Given the description of an element on the screen output the (x, y) to click on. 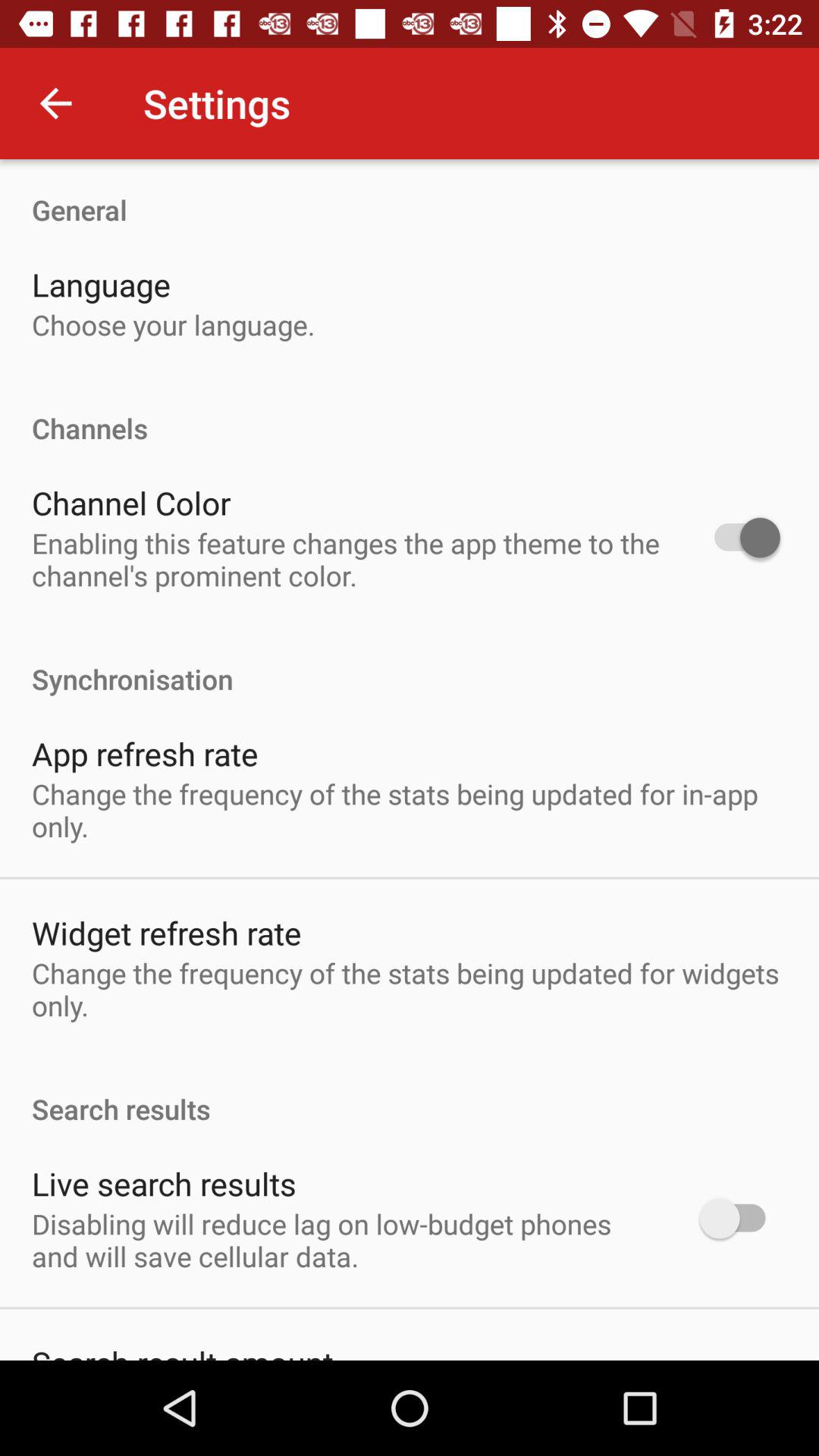
open enabling this feature item (345, 559)
